Given the description of an element on the screen output the (x, y) to click on. 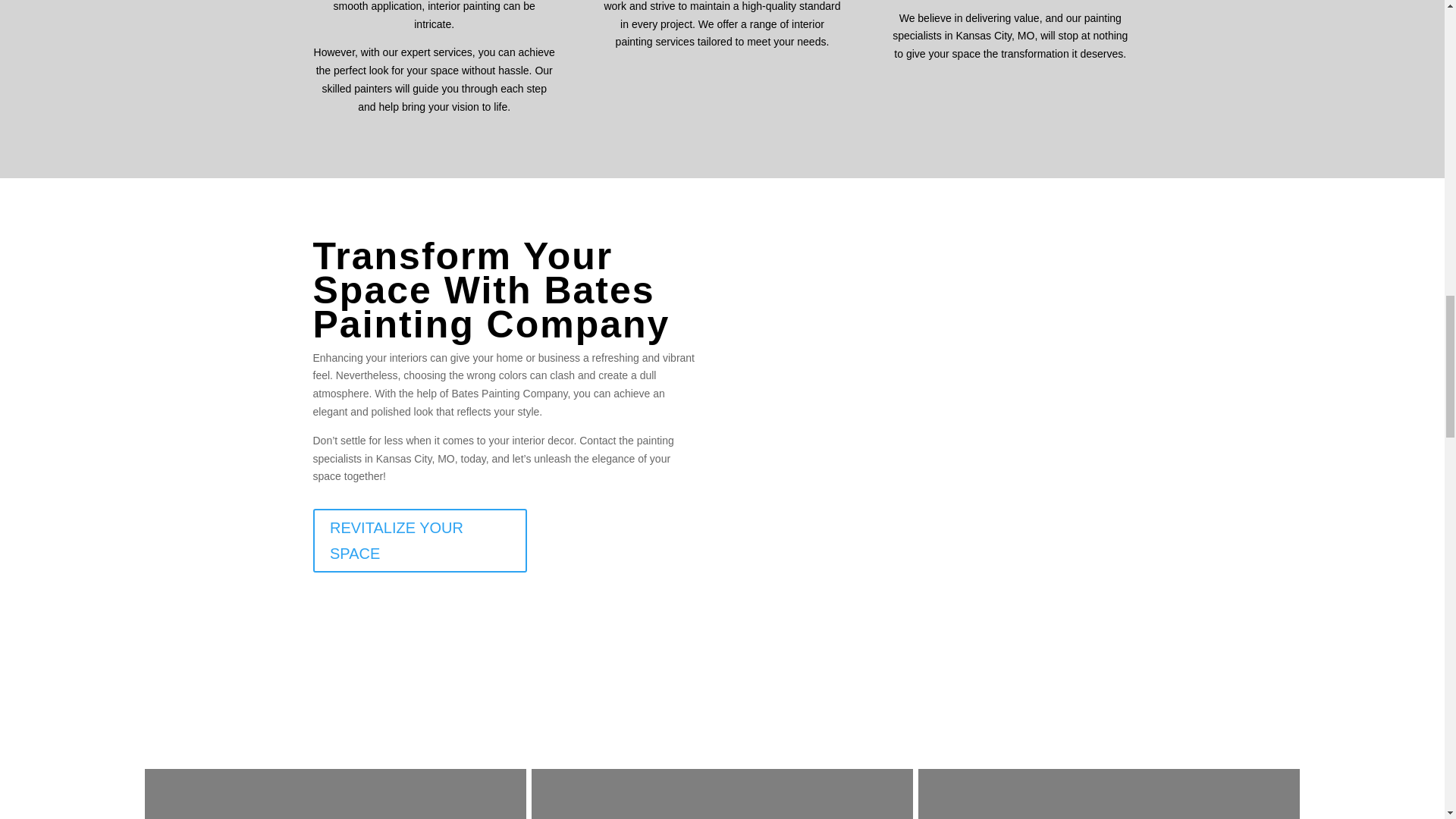
Interior Painting Services in Kansas City, MO 6 (1031, 794)
Interior Painting Services in Kansas City, MO 5 (644, 794)
Bates-Team-004 (937, 405)
REVITALIZE YOUR SPACE (419, 540)
Interior Painting Services in Kansas City, MO 4 (257, 794)
